Given the description of an element on the screen output the (x, y) to click on. 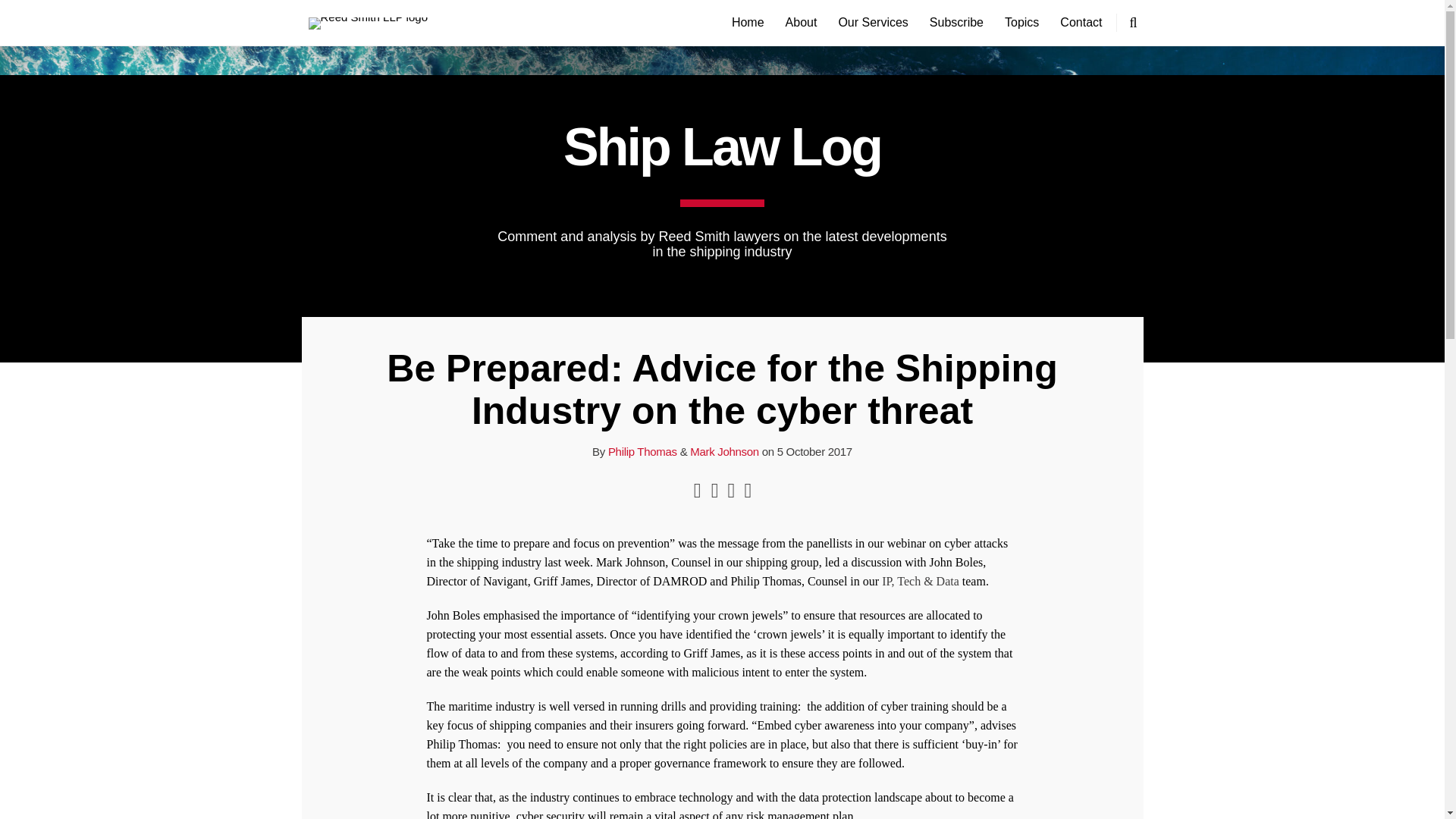
Ship Law Log (721, 146)
Home (748, 22)
Contact (1080, 22)
About (801, 22)
Philip Thomas (642, 451)
Topics (1021, 22)
Our Services (872, 22)
Subscribe (957, 22)
Mark Johnson (724, 451)
